Given the description of an element on the screen output the (x, y) to click on. 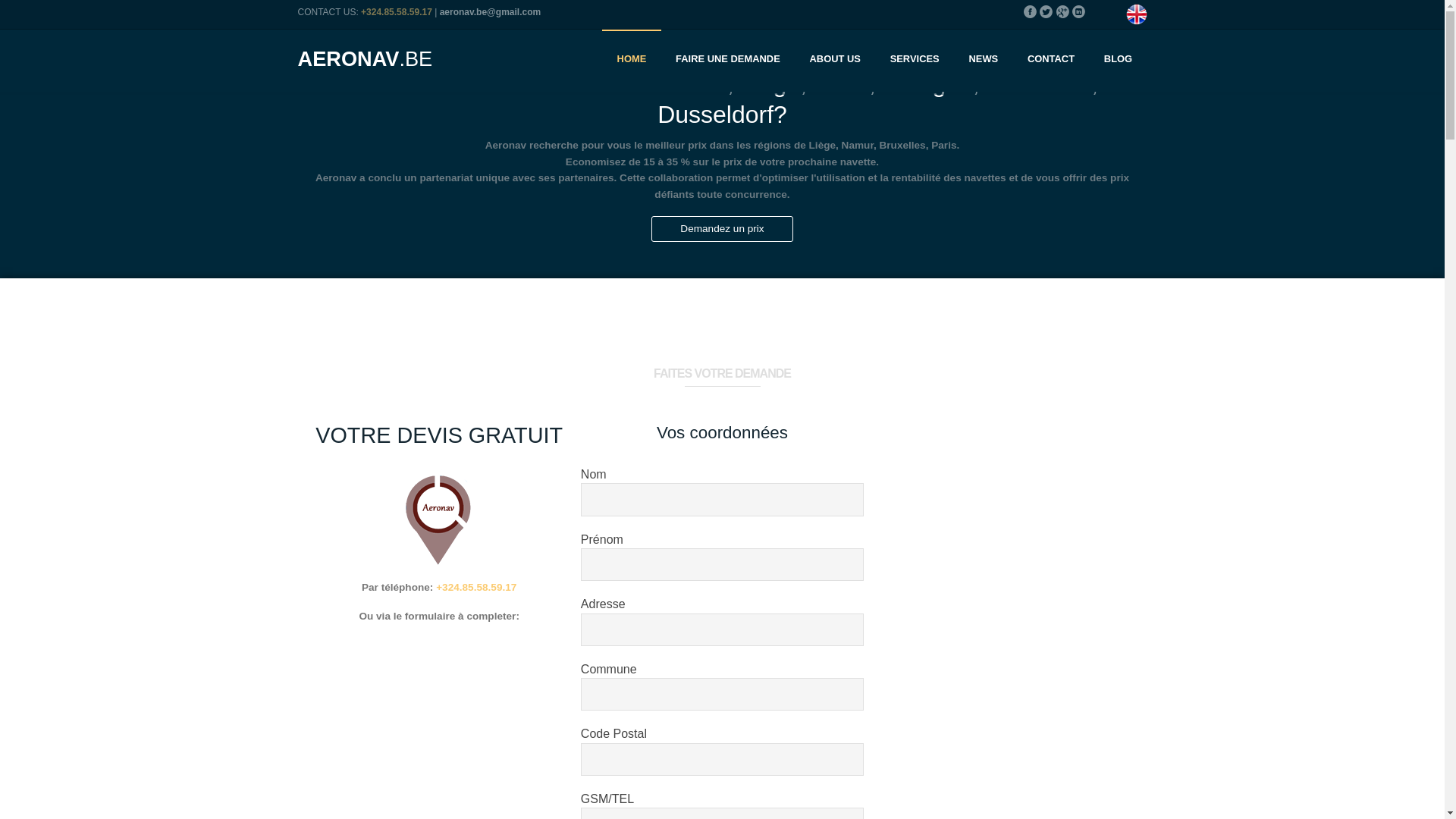
CONTACT Element type: text (1051, 60)
+324.85.58.59.17 Element type: text (476, 587)
BLOG Element type: text (1117, 60)
HOME Element type: text (631, 60)
SERVICES Element type: text (914, 60)
NEWS Element type: text (982, 60)
Demandez un prix Element type: text (722, 228)
+324.85.58.59.17 Element type: text (396, 11)
FAIRE UNE DEMANDE Element type: text (727, 60)
ABOUT US Element type: text (834, 60)
